Given the description of an element on the screen output the (x, y) to click on. 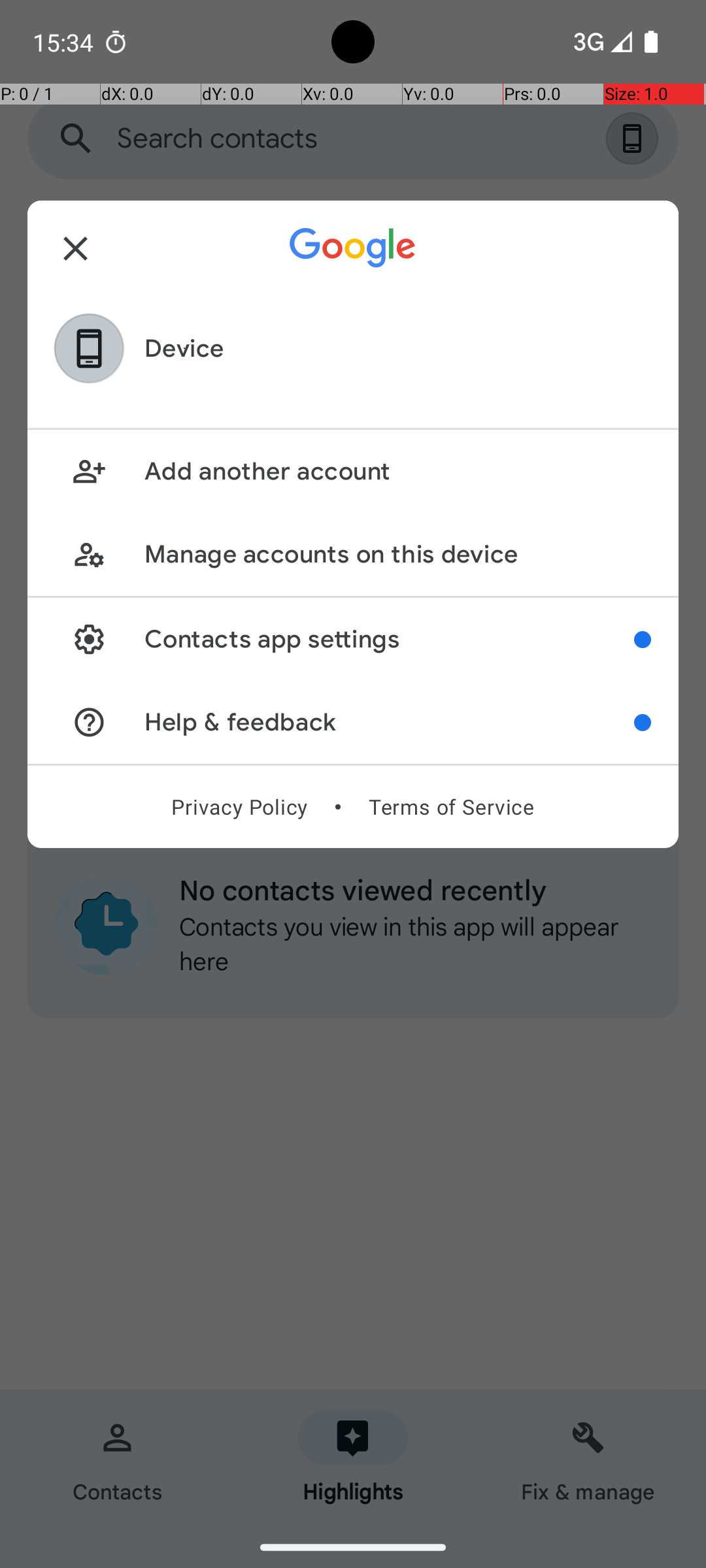
Add another account Element type: android.widget.TextView (397, 471)
Manage accounts on this device Element type: android.widget.TextView (397, 554)
Contacts app settings Element type: android.widget.TextView (389, 638)
